Given the description of an element on the screen output the (x, y) to click on. 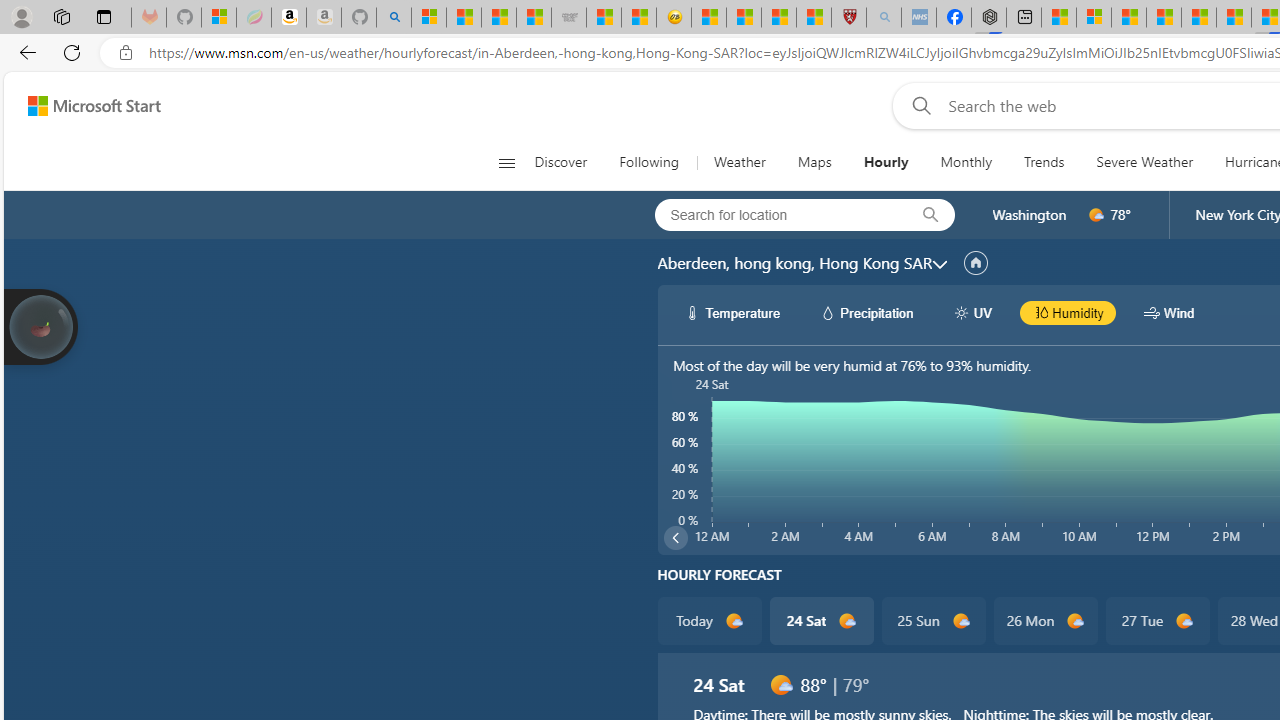
hourlyChart/humidityBlack (1040, 312)
Severe Weather (1144, 162)
hourlyChart/windWhite (1152, 312)
Maps (814, 162)
hourlyChart/temperatureWhite (692, 312)
